Given the description of an element on the screen output the (x, y) to click on. 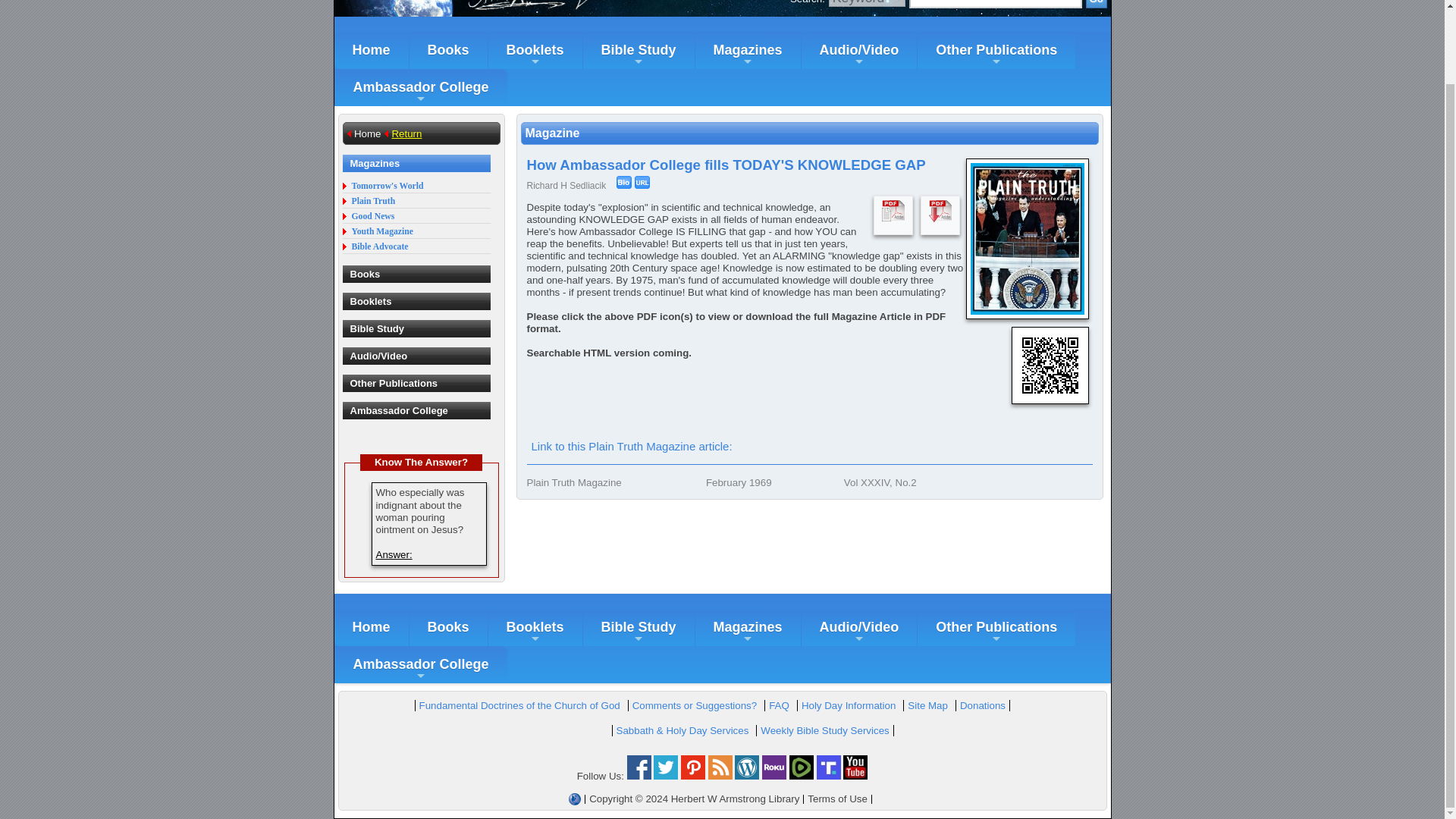
Go (1096, 4)
Click down arrow to see all 3 search options. (866, 3)
Other Publications (996, 49)
Click here to link to this Plain Truth Magazine article. (630, 445)
HWALibrary - Facebook (638, 776)
HWALibrary - RSS Feed (719, 776)
Home (370, 49)
Bible Study (638, 49)
Click here to link to this Plain Truth Magazine article. (641, 182)
HWALibrary - Pinterest (692, 776)
HWALibrary - Twitter (665, 776)
